Given the description of an element on the screen output the (x, y) to click on. 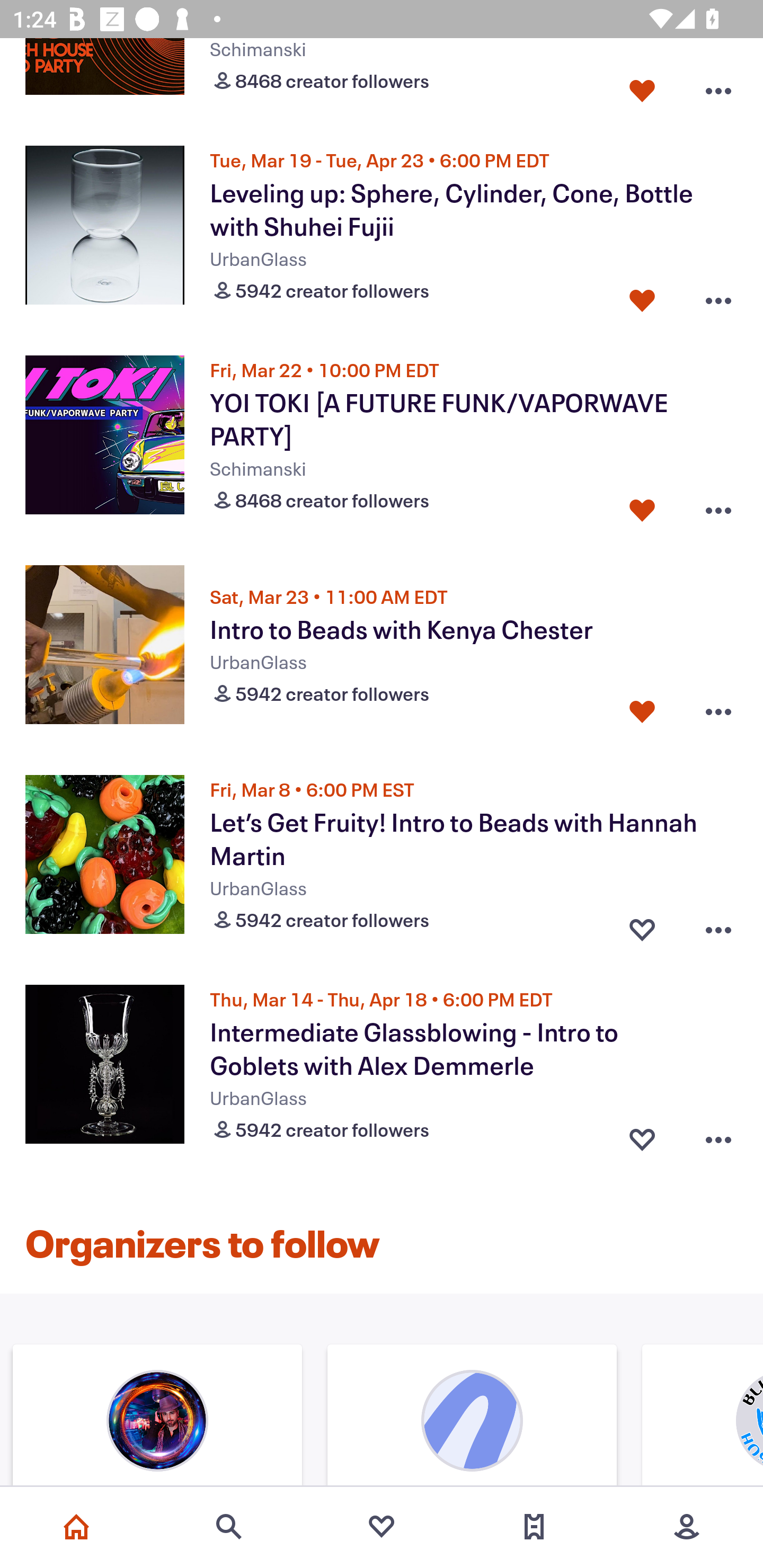
Favorite button (642, 86)
Overflow menu button (718, 86)
Favorite button (642, 296)
Overflow menu button (718, 296)
Favorite button (642, 505)
Overflow menu button (718, 505)
Favorite button (642, 711)
Overflow menu button (718, 711)
Favorite button (642, 925)
Overflow menu button (718, 925)
Favorite button (642, 1135)
Overflow menu button (718, 1135)
Organizer's image LatinParty.com by Club Cache (157, 1417)
Organizer's image ( QUEENS ) NIGHTCLUB (471, 1417)
Home (76, 1526)
Search events (228, 1526)
Favorites (381, 1526)
Tickets (533, 1526)
More (686, 1526)
